Given the description of an element on the screen output the (x, y) to click on. 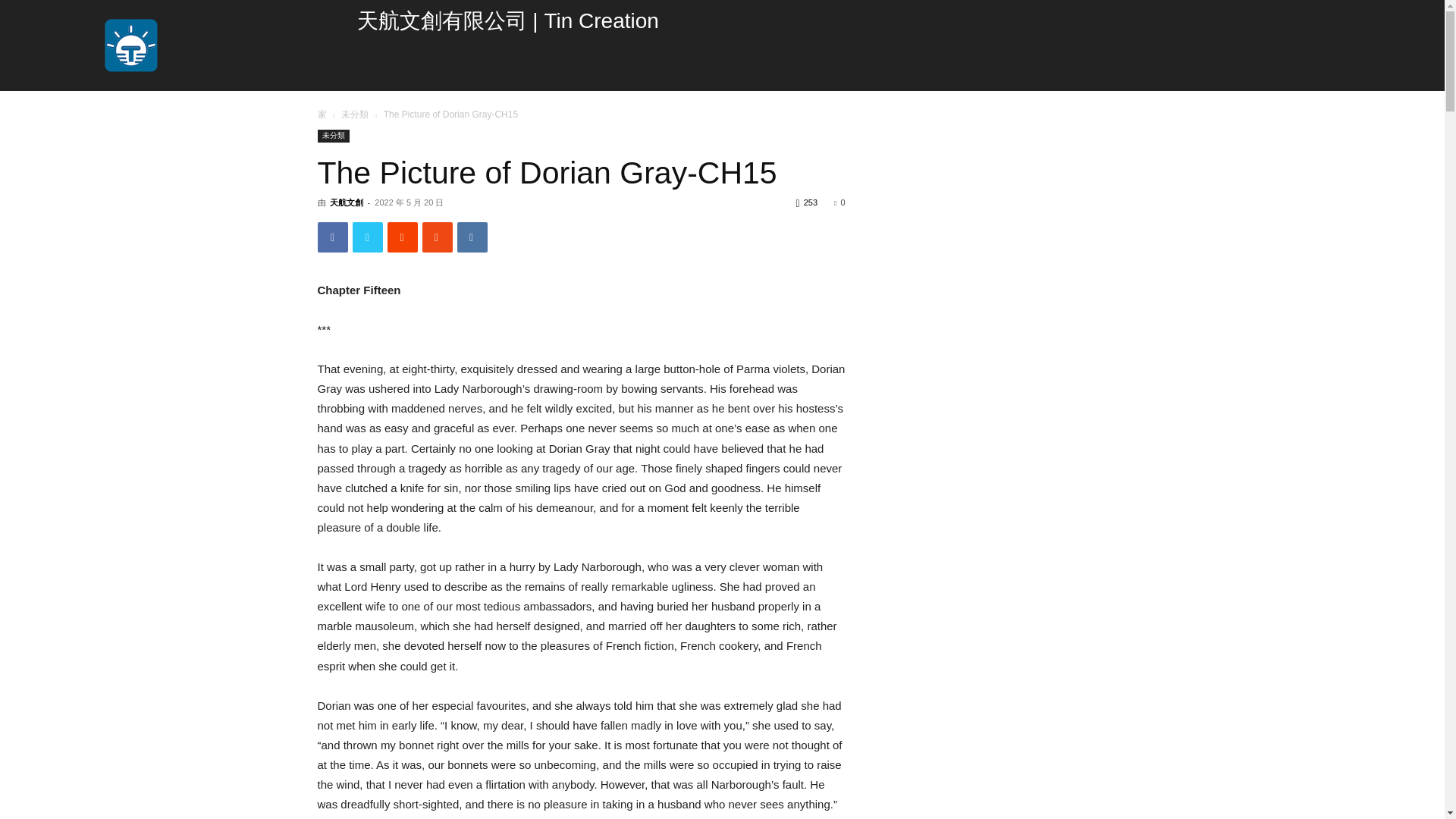
VK (471, 236)
ReddIt (401, 236)
Facebook (332, 236)
SqaureLogo-mobile (130, 45)
Twitter (366, 236)
Mix (436, 236)
0 (839, 202)
